Given the description of an element on the screen output the (x, y) to click on. 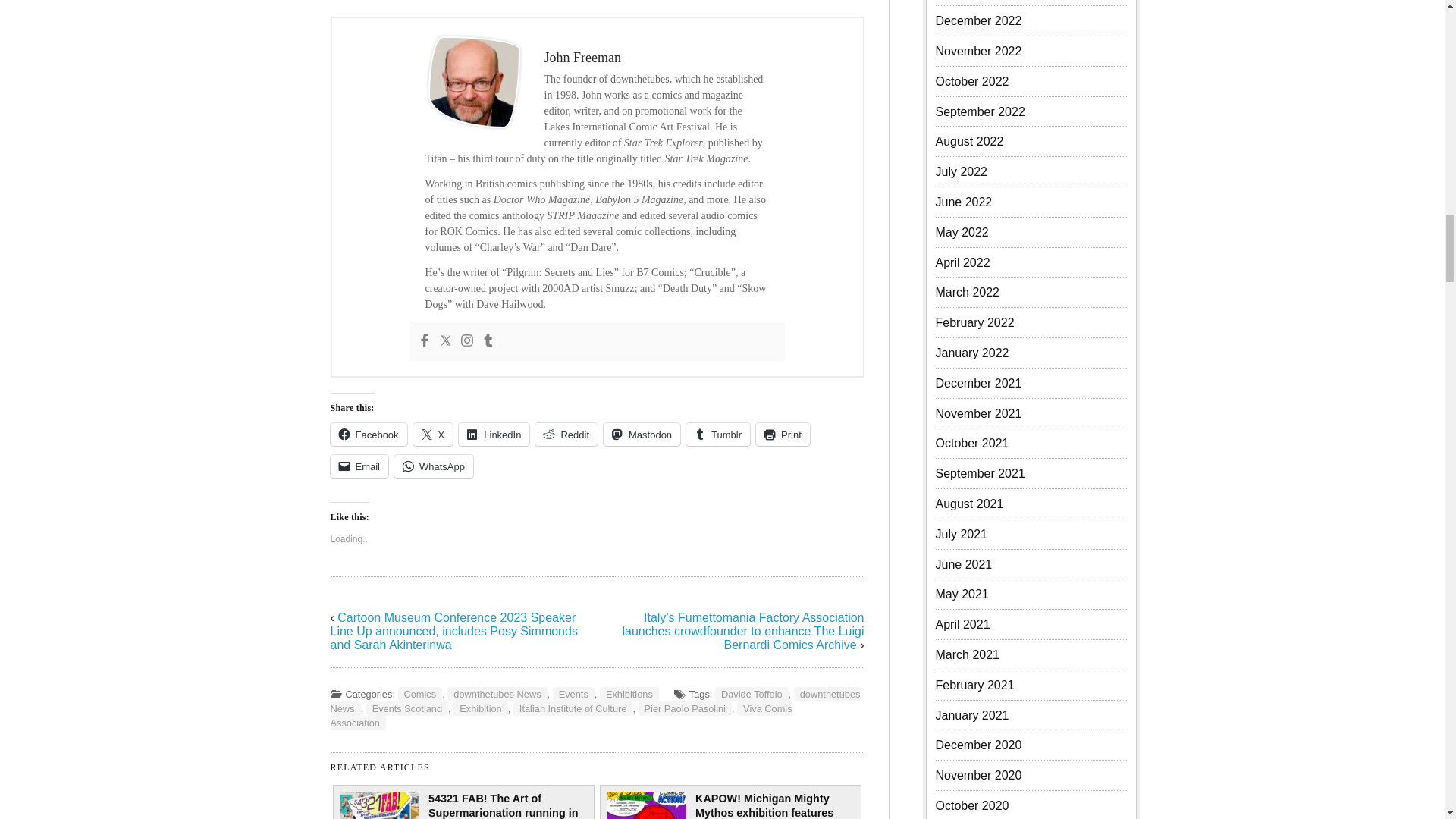
Click to share on LinkedIn (493, 434)
Click to share on Reddit (565, 434)
Click to share on Facebook (368, 434)
Click to share on X (432, 434)
